Given the description of an element on the screen output the (x, y) to click on. 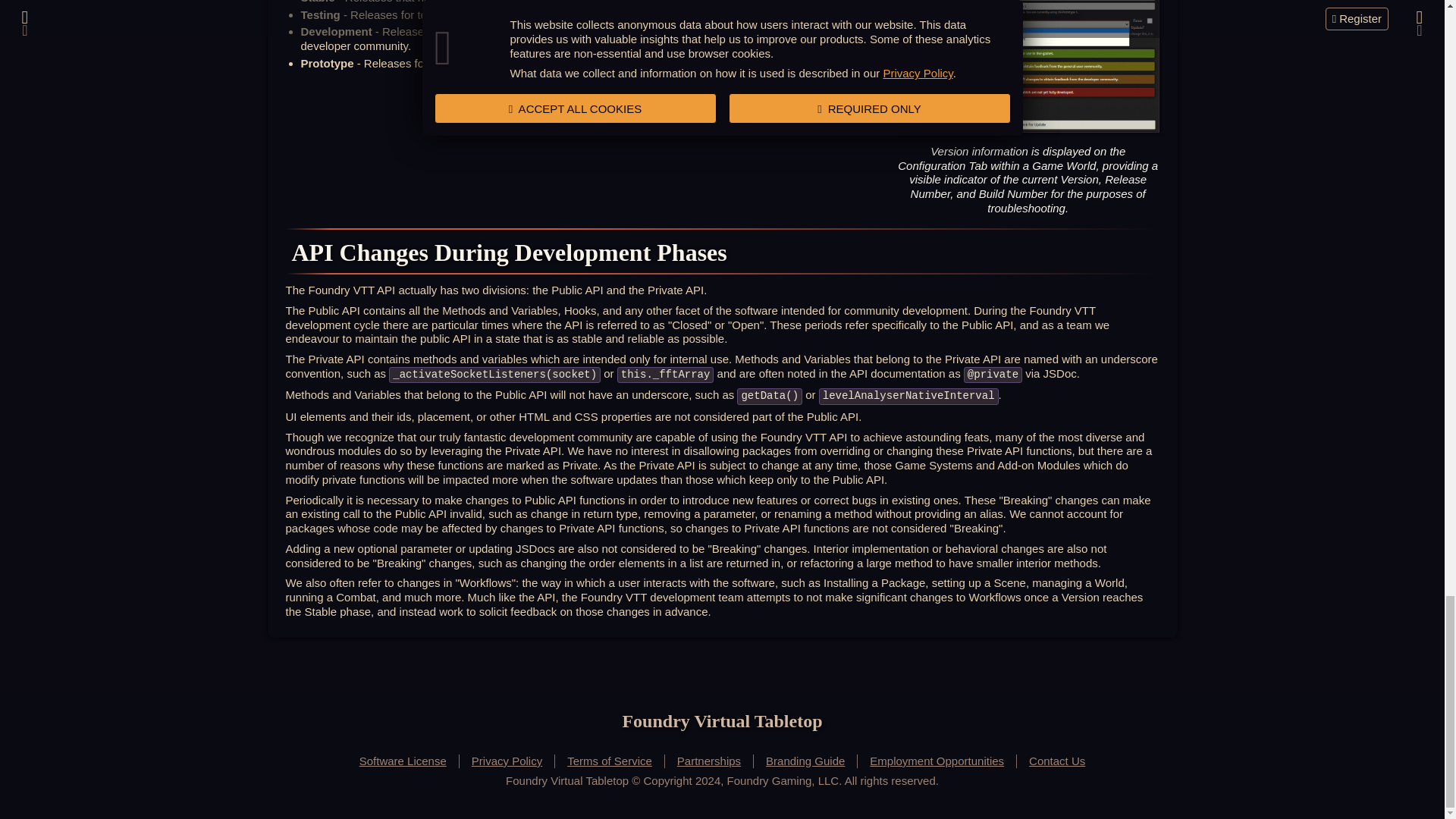
Employment Opportunities (936, 761)
Contact Us (1056, 761)
Terms of Service (609, 761)
Employment Opportunities (936, 761)
Partnerships (709, 761)
Branding Guide (805, 761)
Contact Us (1056, 761)
Software License (403, 761)
Branding and Content Kit (805, 761)
Privacy Policy (507, 761)
